Given the description of an element on the screen output the (x, y) to click on. 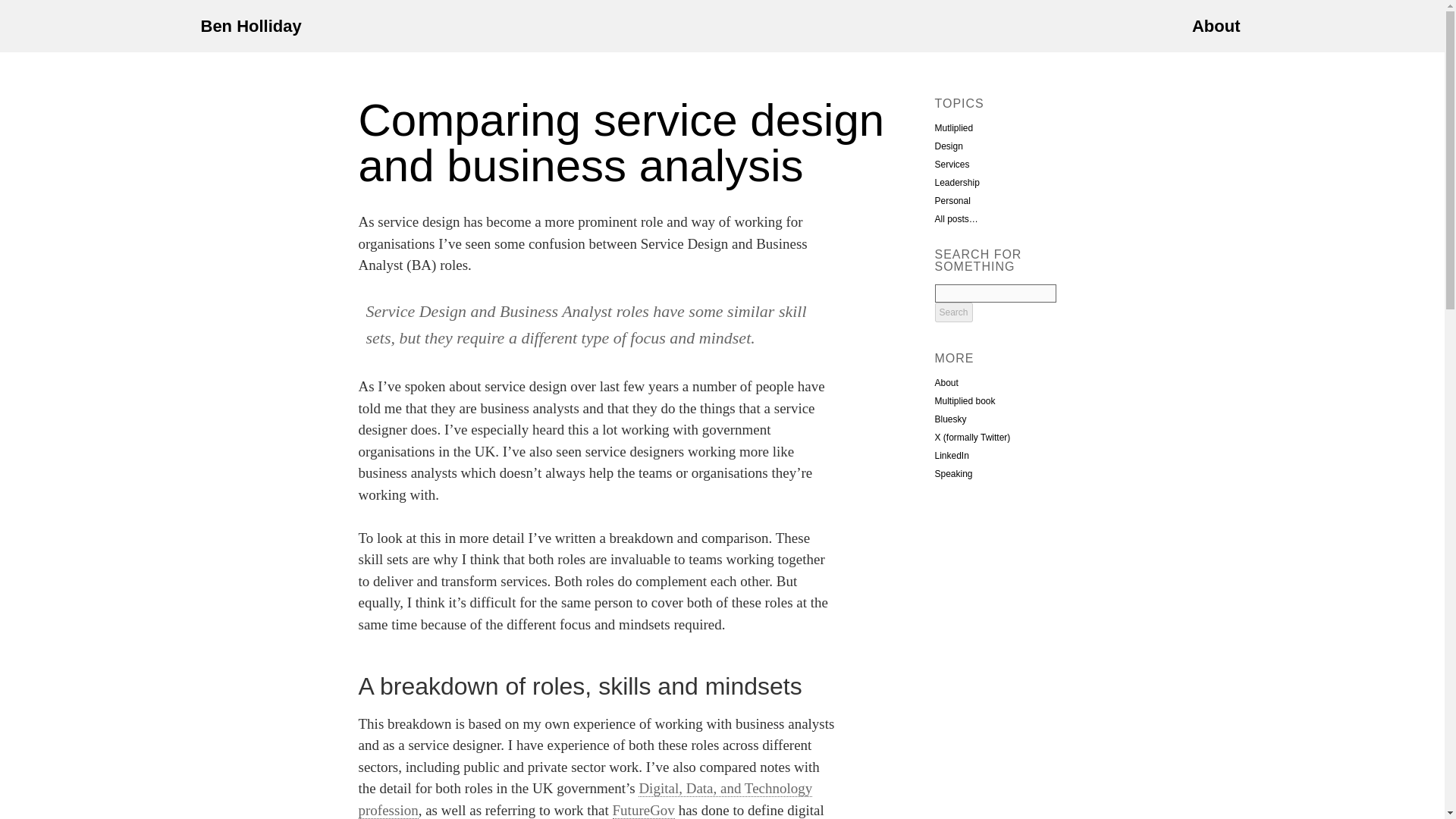
Personal (951, 200)
About (946, 382)
Leadership (956, 182)
Search (953, 312)
Ben Holliday (250, 26)
about (1215, 26)
Services (951, 163)
Digital, Data, and Technology profession (585, 799)
Bluesky (950, 419)
Mutliplied (953, 127)
